Given the description of an element on the screen output the (x, y) to click on. 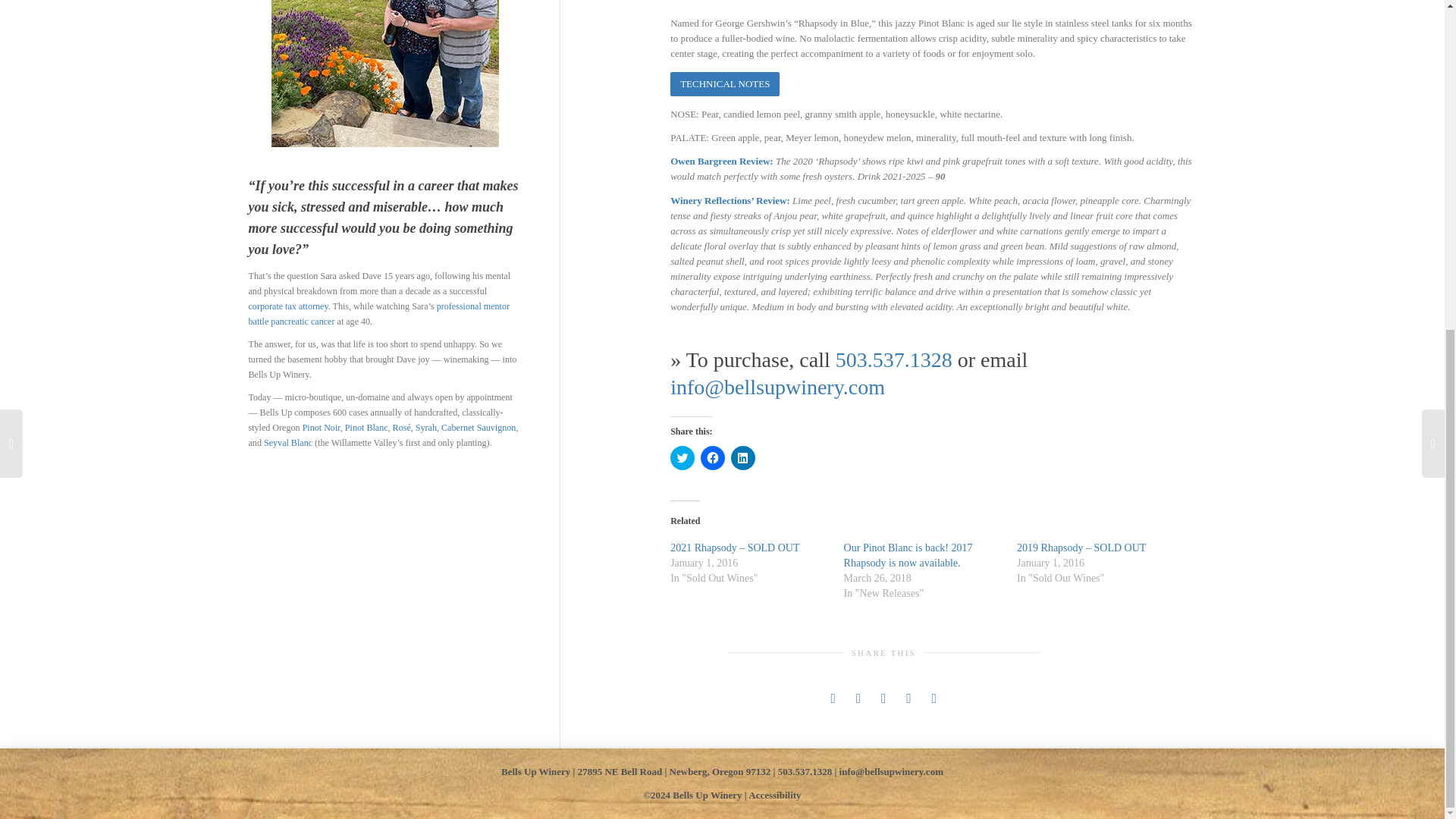
TECHNICAL NOTES (723, 84)
Click to share on LinkedIn (742, 457)
Click to share on Twitter (681, 457)
503.537.1328 (893, 359)
Our Pinot Blanc is back! 2017 Rhapsody is now available. (908, 555)
Our Pinot Blanc is back! 2017 Rhapsody is now available. (908, 555)
Click to share on Facebook (712, 457)
Owen Bargreen Review: (722, 161)
